Given the description of an element on the screen output the (x, y) to click on. 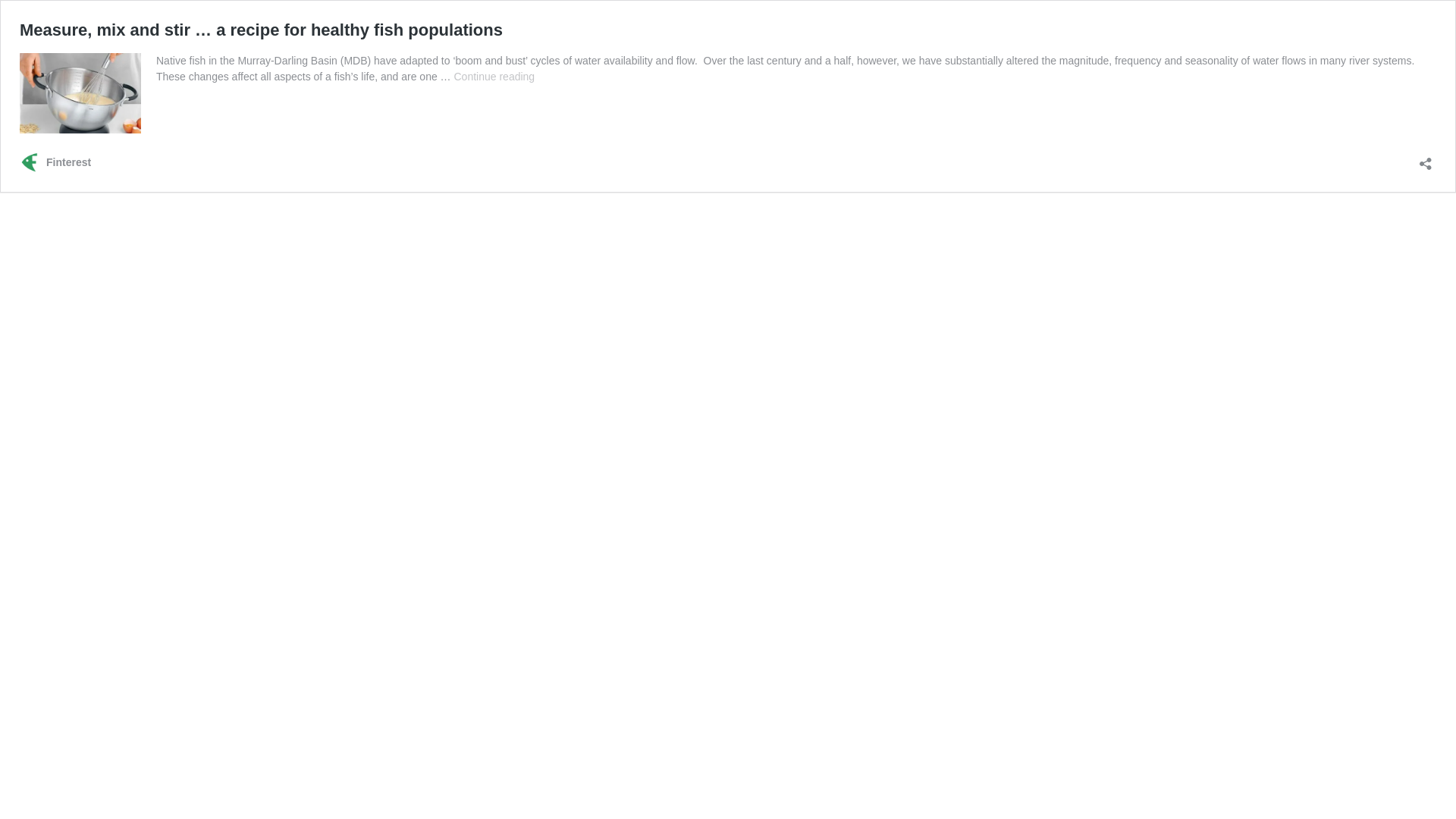
Finterest Element type: text (55, 162)
